Given the description of an element on the screen output the (x, y) to click on. 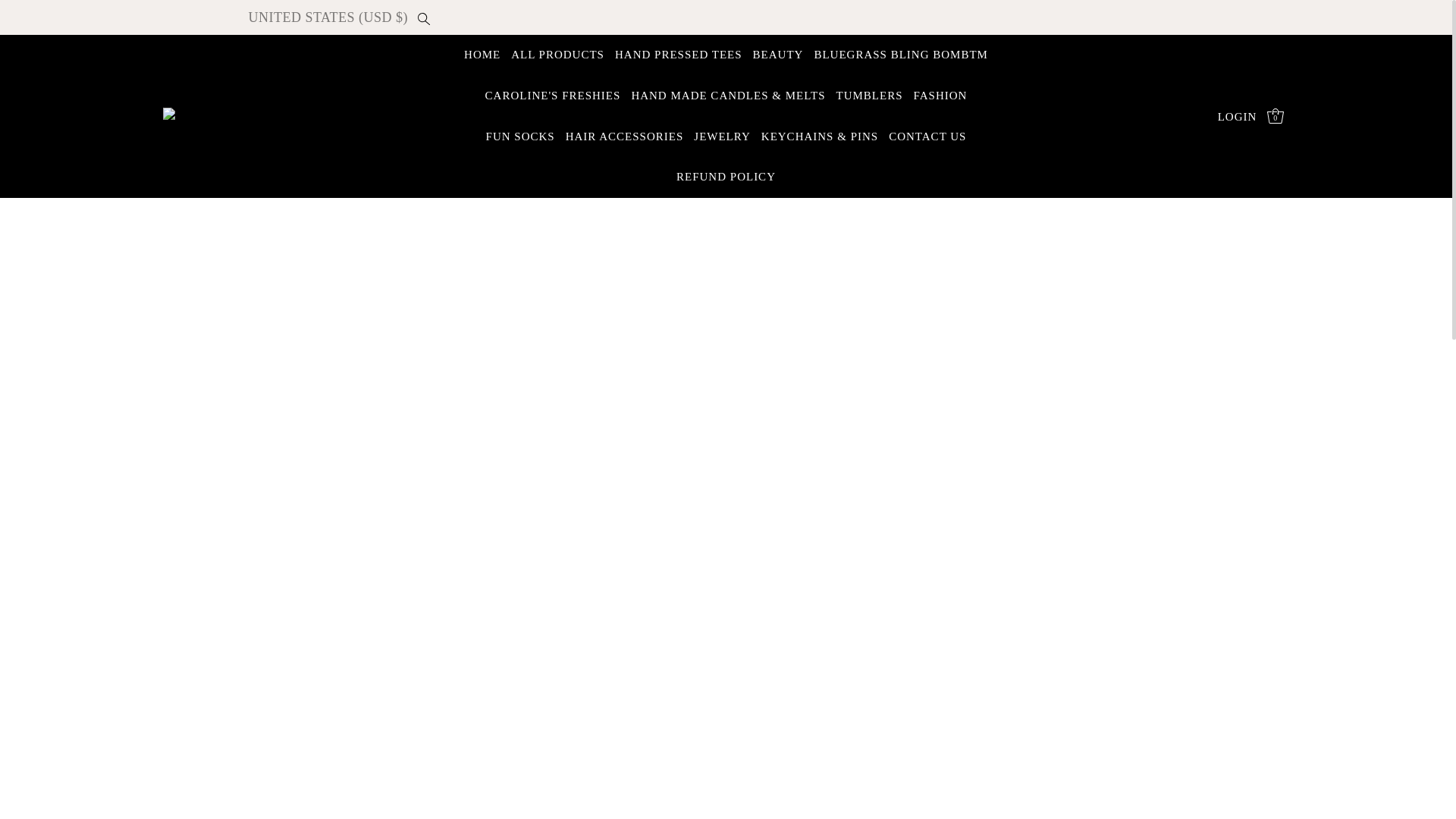
BLUEGRASS BLING BOMBTM (900, 55)
ALL PRODUCTS (558, 55)
TUMBLERS (869, 96)
HAND PRESSED TEES (678, 55)
FUN SOCKS (520, 137)
CAROLINE'S FRESHIES (553, 96)
HOME (481, 55)
FASHION (940, 96)
BEAUTY (778, 55)
VIEW (30, 467)
